Given the description of an element on the screen output the (x, y) to click on. 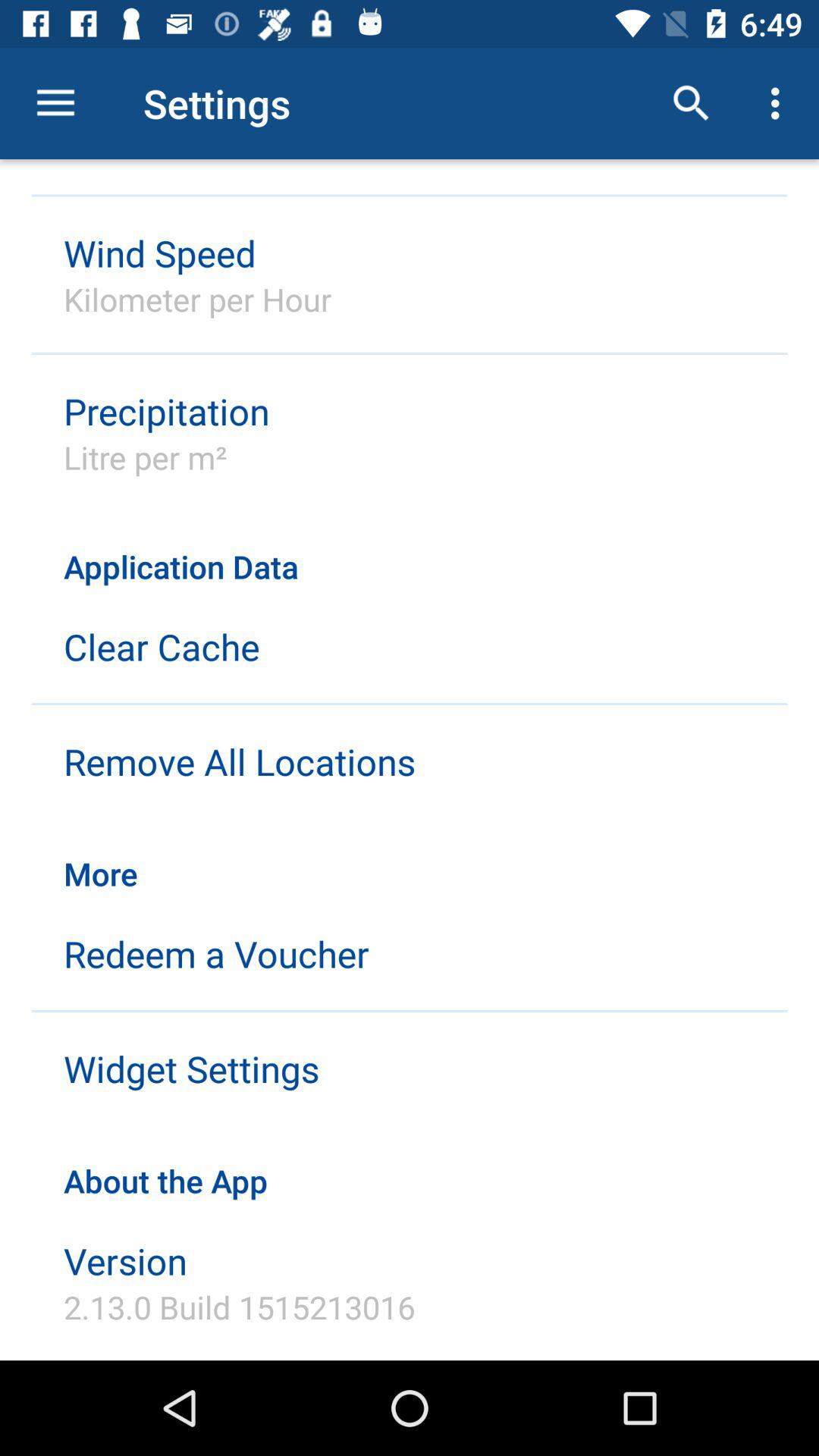
jump to widget settings (191, 1068)
